Given the description of an element on the screen output the (x, y) to click on. 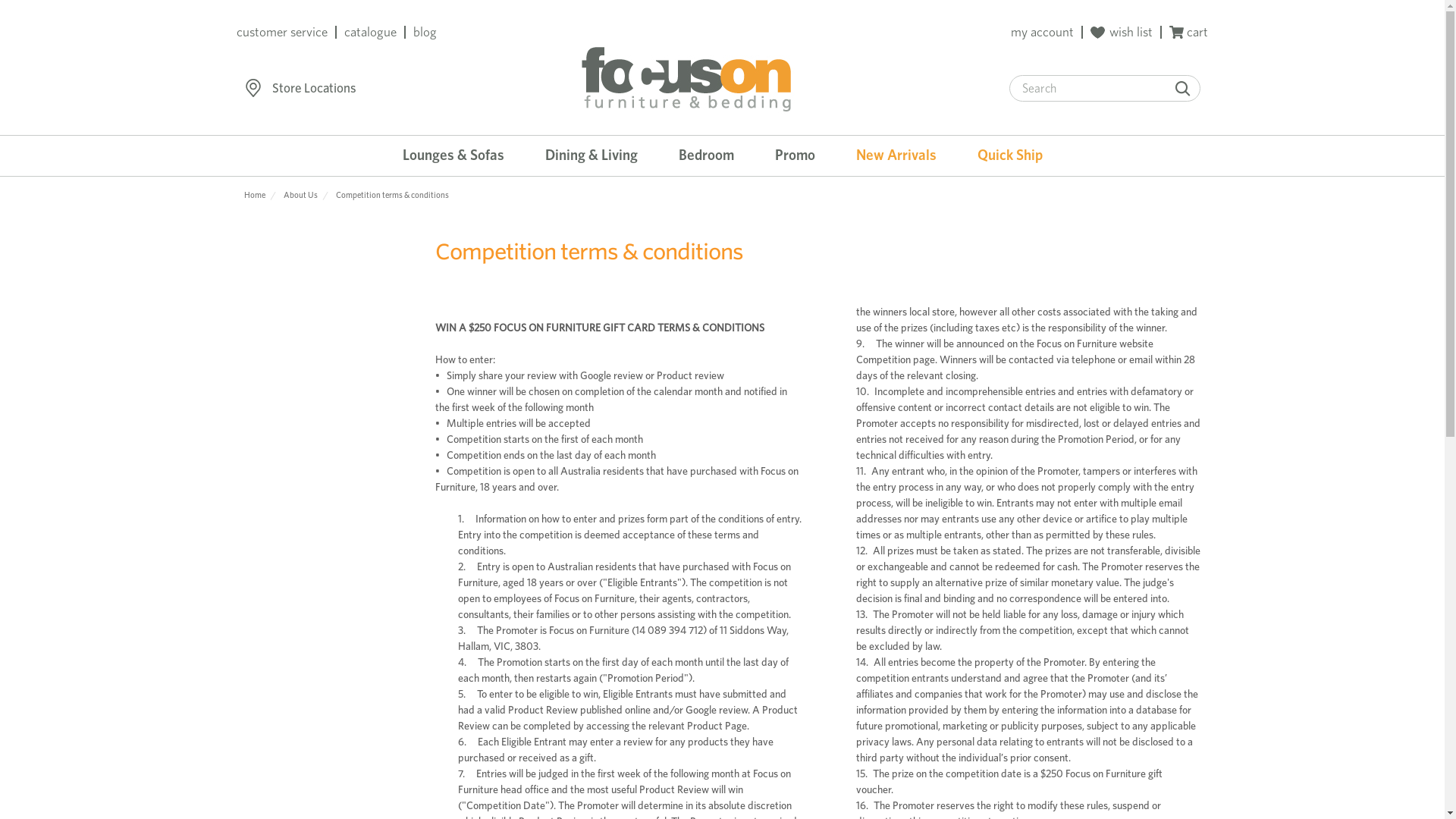
New Arrivals Element type: text (896, 155)
Quick Ship Element type: text (1010, 155)
Store Locations Element type: text (314, 88)
my account Element type: text (1041, 31)
Promo Element type: text (793, 155)
Focus on Furniture Element type: hover (686, 79)
Home Element type: text (254, 194)
Dining & Living Element type: text (591, 155)
catalogue Element type: text (370, 31)
customer service Element type: text (281, 31)
Lounges & Sofas Element type: text (453, 155)
blog Element type: text (424, 31)
wish list Element type: text (1121, 31)
About Us Element type: text (300, 194)
cart Element type: text (1188, 31)
Bedroom Element type: text (706, 155)
